Given the description of an element on the screen output the (x, y) to click on. 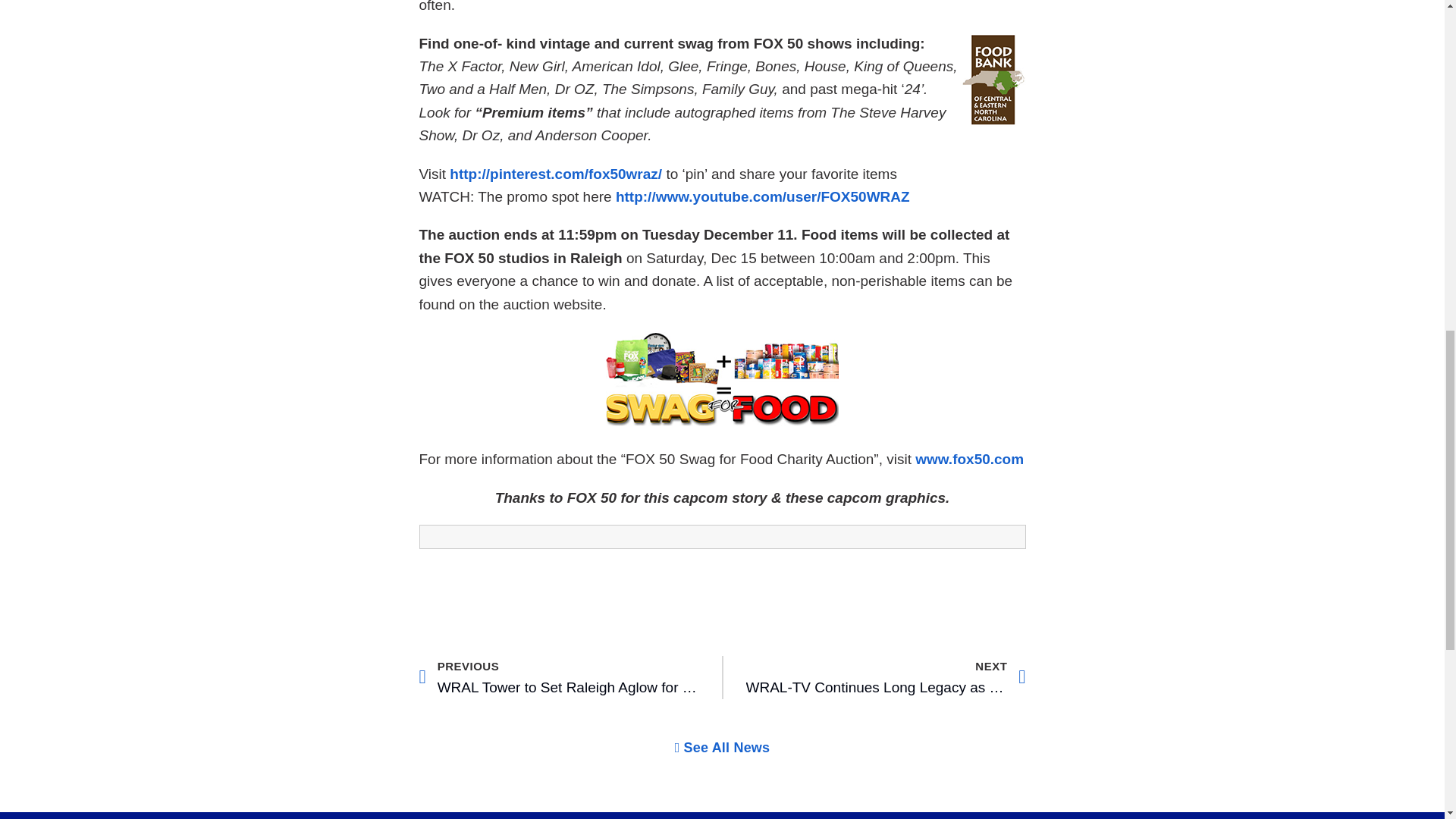
www.fox50.com (969, 458)
See All News (558, 678)
